Given the description of an element on the screen output the (x, y) to click on. 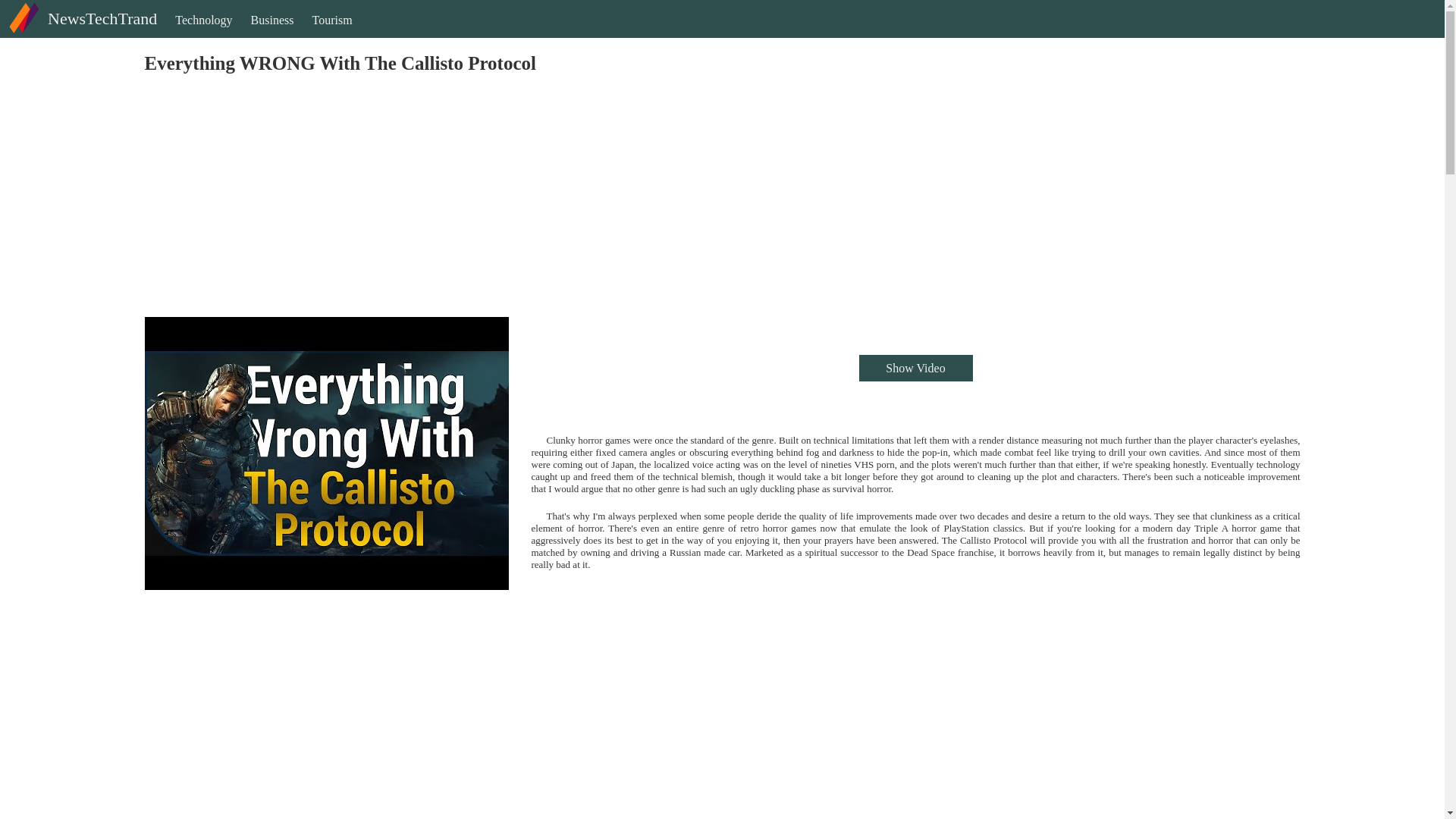
Technology (202, 32)
Tourism (332, 32)
Everything WRONG With The Callisto Protocol (326, 452)
Show Video (915, 367)
Business (272, 32)
NewsTechTrand (80, 31)
